Given the description of an element on the screen output the (x, y) to click on. 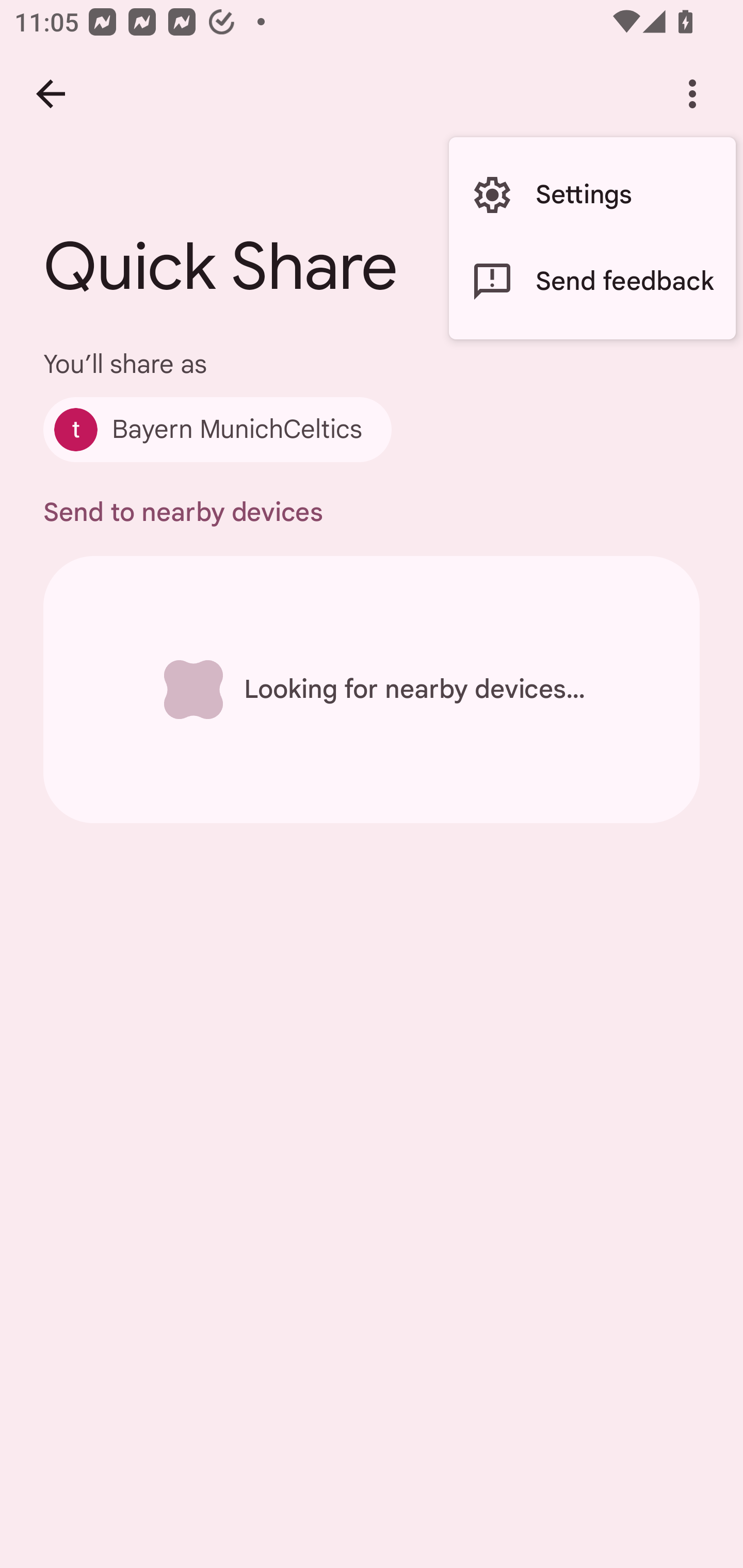
Settings (591, 195)
Send feedback (591, 281)
